Given the description of an element on the screen output the (x, y) to click on. 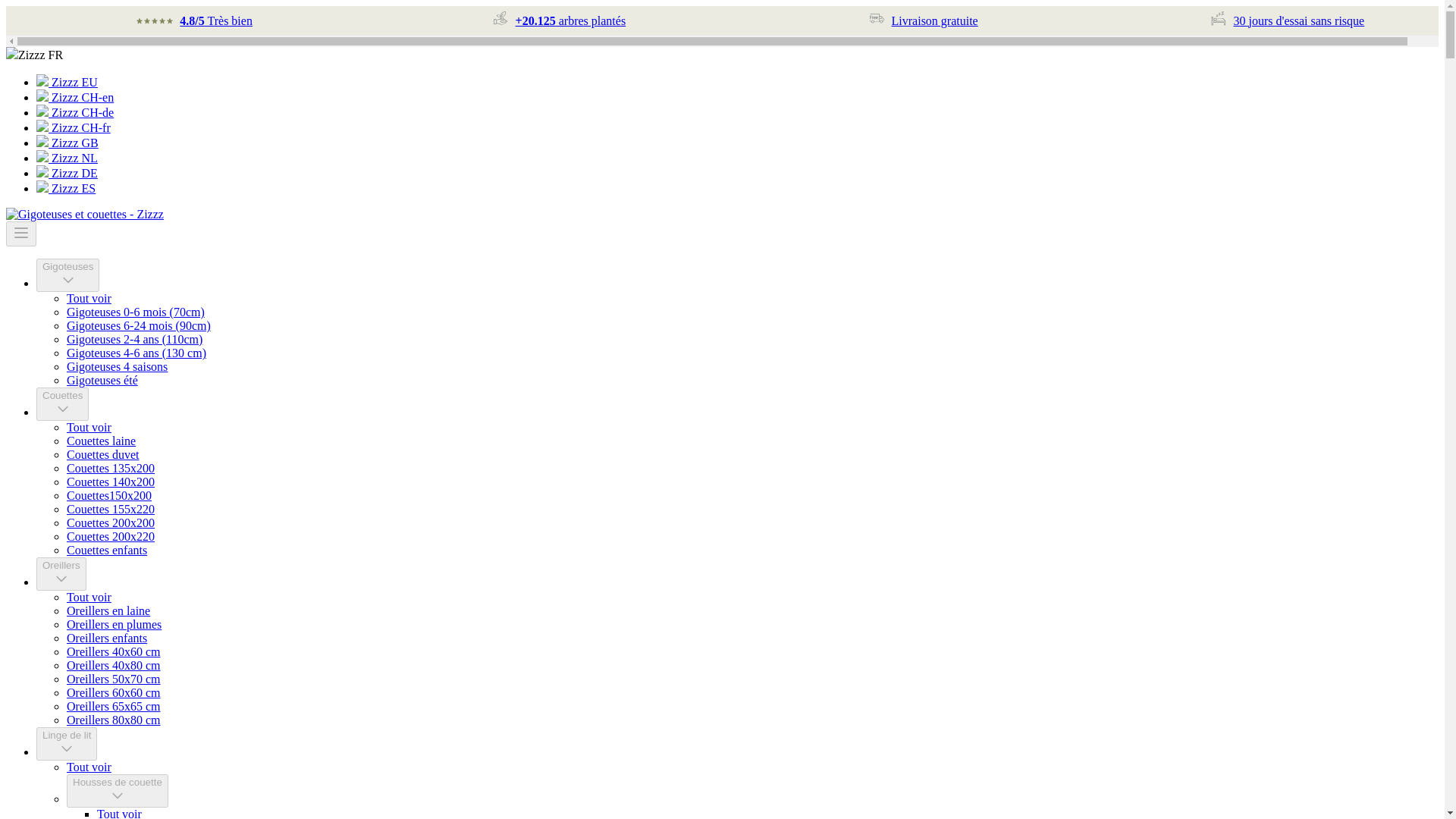
Couettes 200x200 (110, 522)
Couettes 140x200 (110, 481)
Zizzz CH-de (74, 112)
Couettes laine (100, 440)
Gigoteuses 4 saisons (116, 366)
chevron-down (60, 578)
menu (20, 232)
Livraison gratuite (60, 573)
Couettes 200x220 (934, 19)
Tout voir (110, 535)
chevron-down (89, 427)
Zizzz NL (68, 279)
Zizzz CH-en (66, 157)
